Given the description of an element on the screen output the (x, y) to click on. 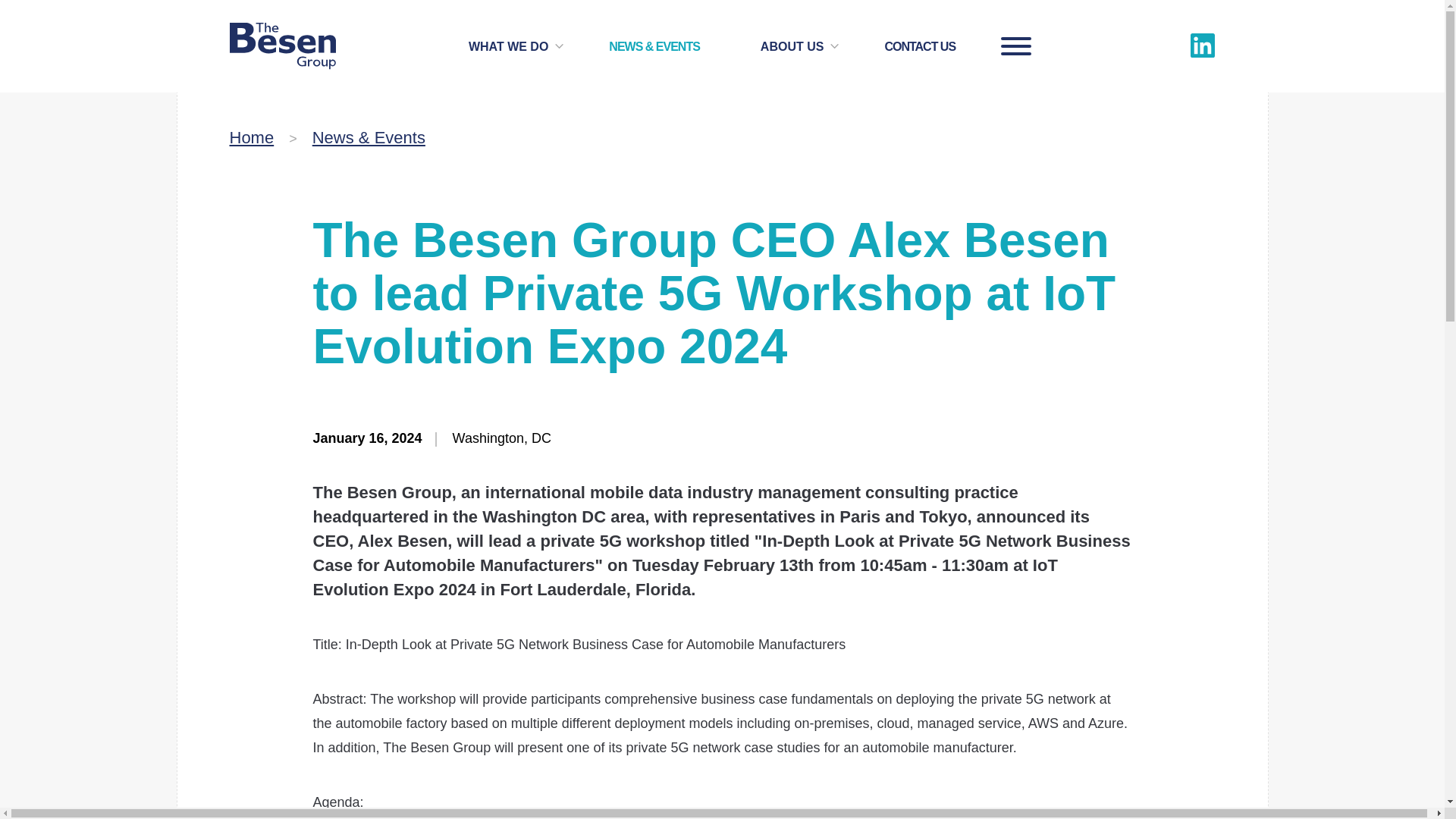
ABOUT US (792, 53)
WHAT WE DO (508, 53)
Home (250, 137)
CONTACT US (919, 53)
